Given the description of an element on the screen output the (x, y) to click on. 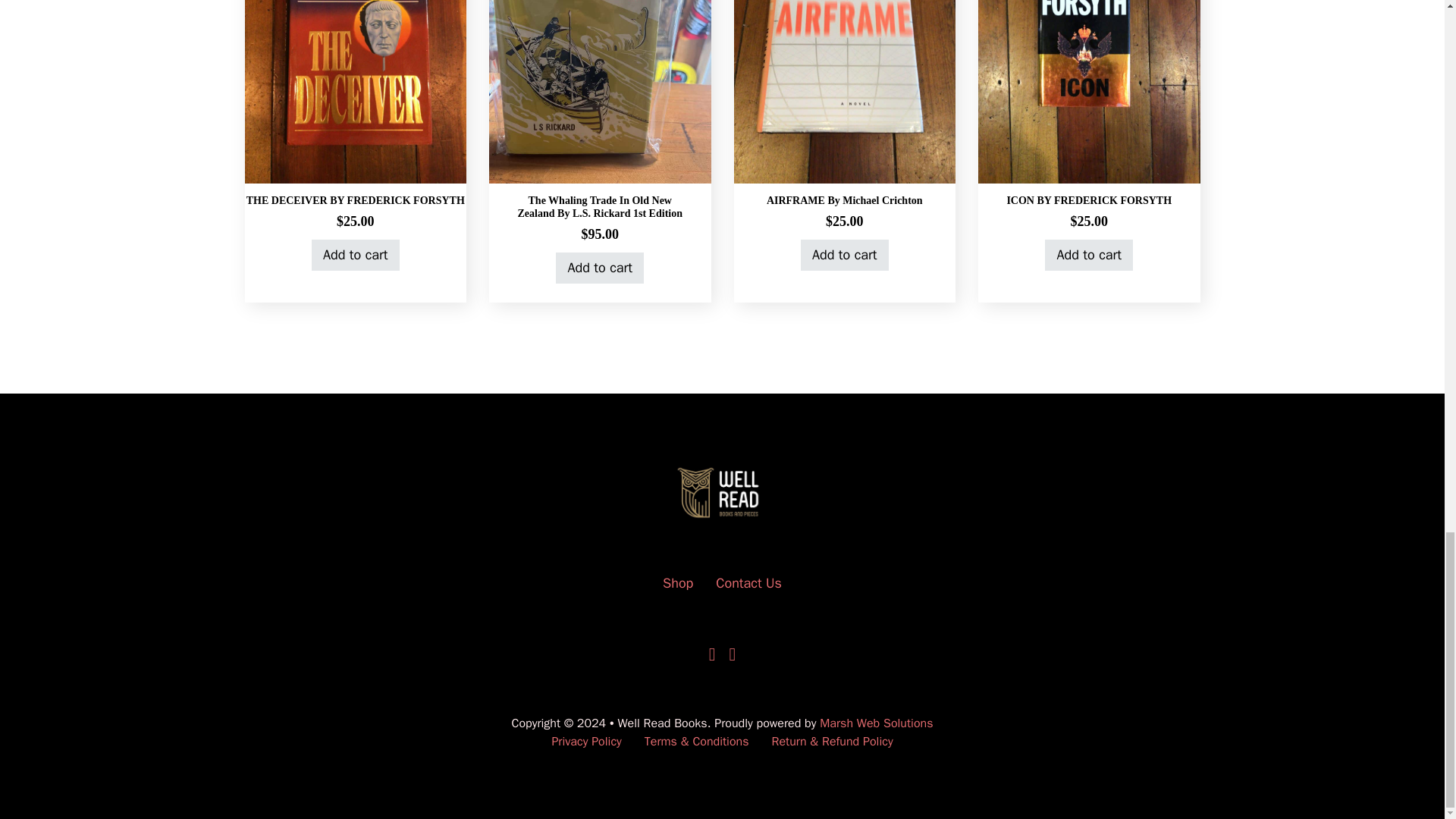
THE DECEIVER BY FREDERICK FORSYTH (355, 200)
Add to cart (354, 255)
